Given the description of an element on the screen output the (x, y) to click on. 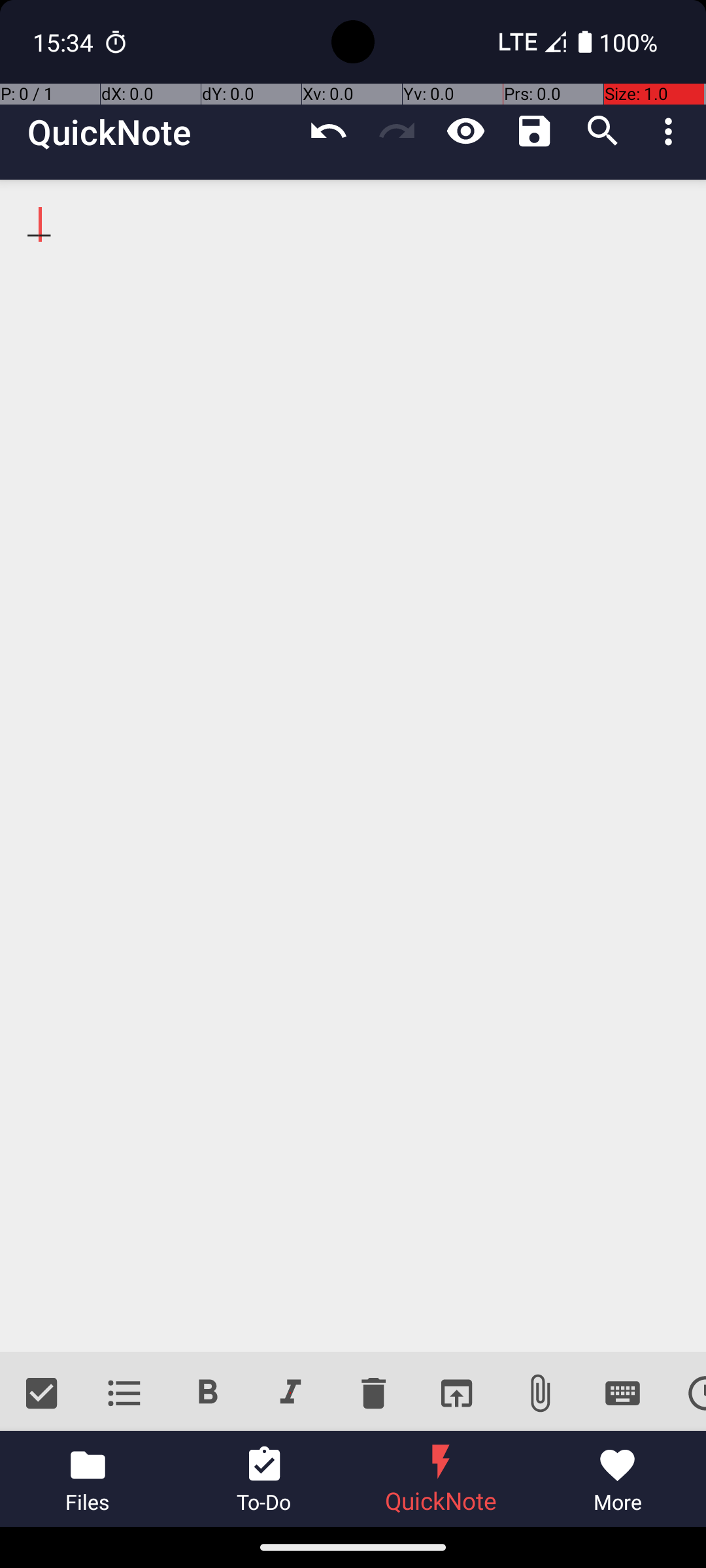
__ Element type: android.widget.EditText (353, 765)
